Given the description of an element on the screen output the (x, y) to click on. 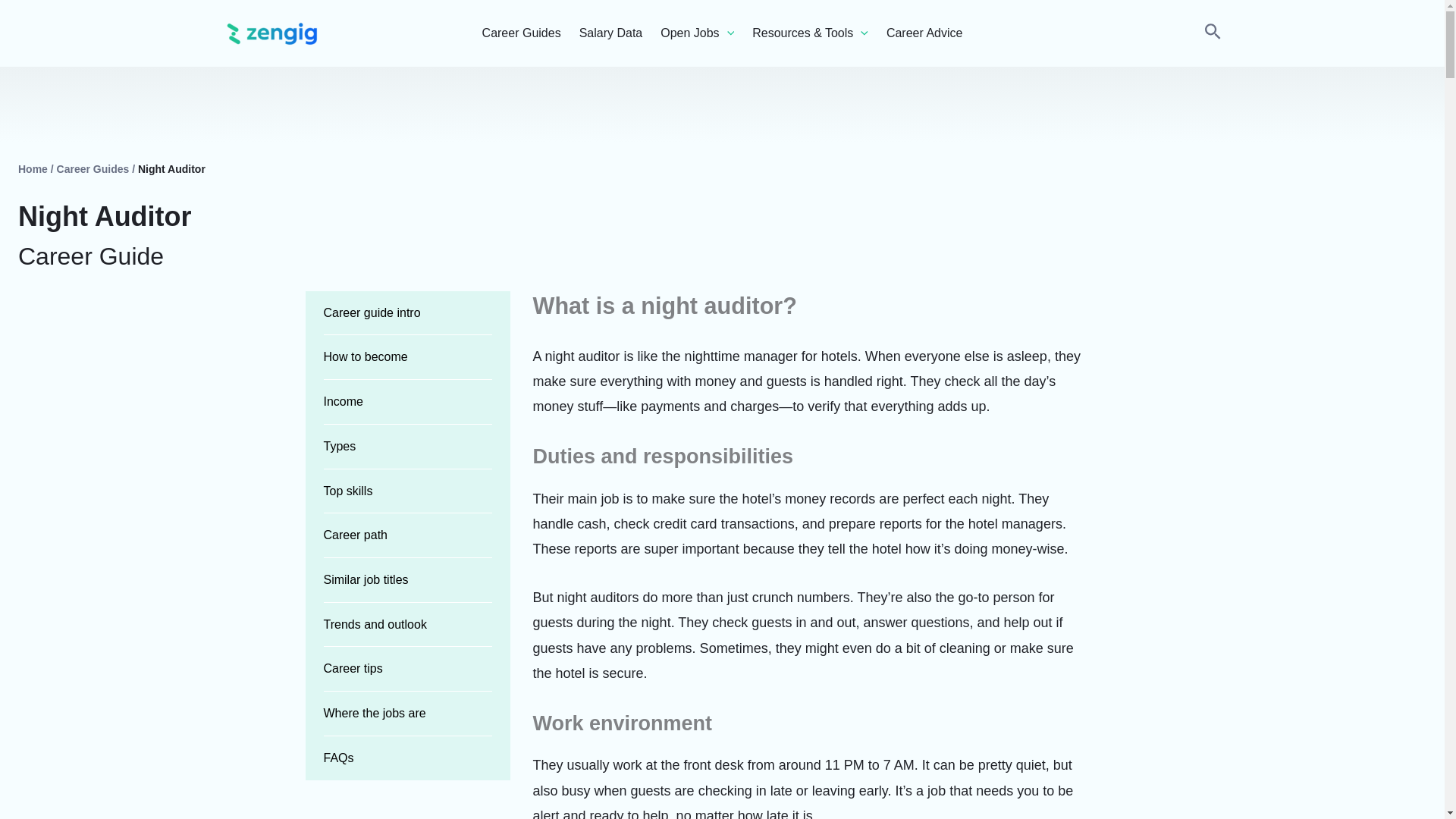
Career Advice (924, 33)
Salary Data (611, 33)
Open Jobs (697, 33)
Career Guides (520, 33)
